Given the description of an element on the screen output the (x, y) to click on. 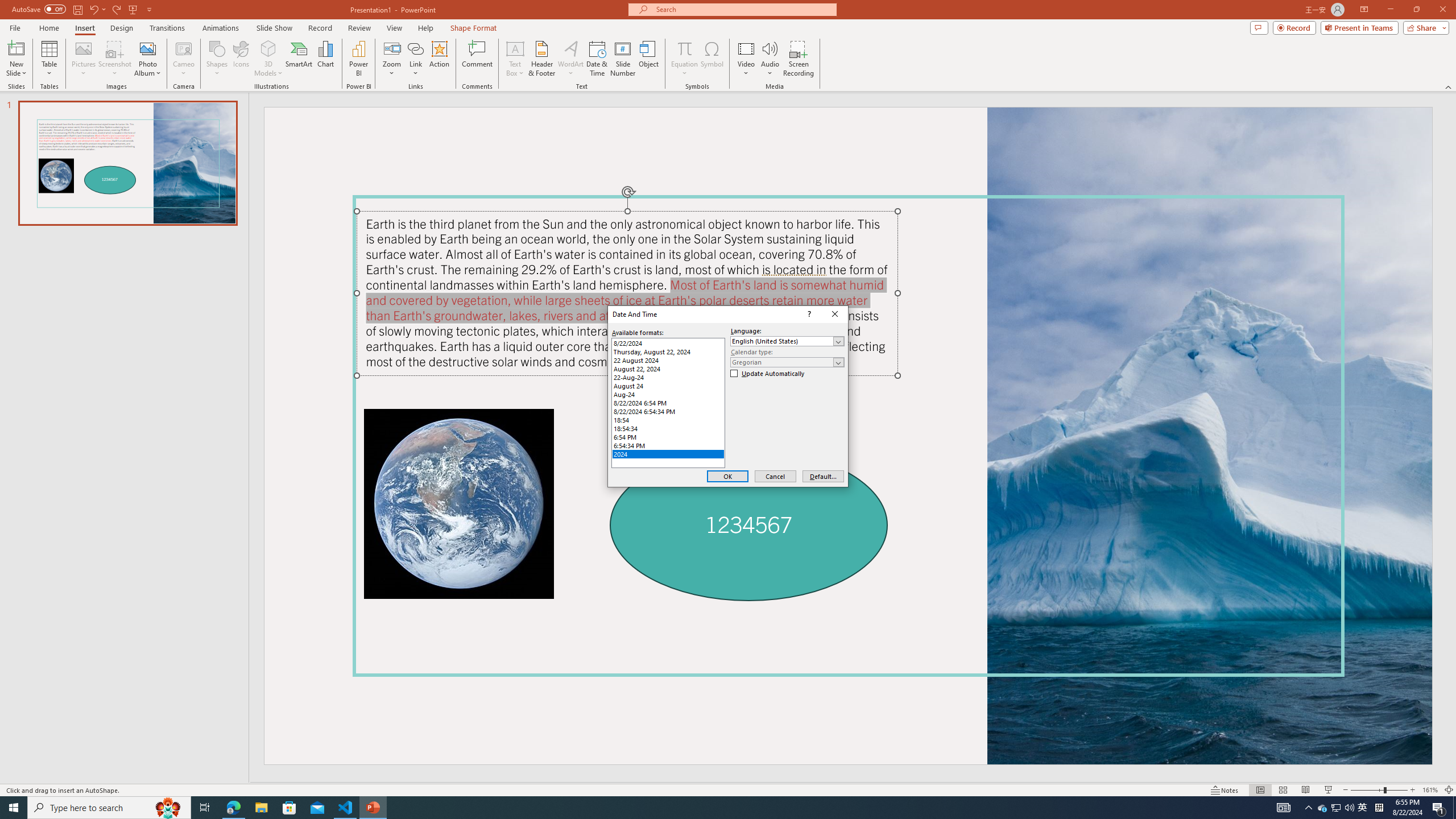
Cancel (775, 476)
Restore Down (1416, 9)
Design (122, 28)
Notification Chevron (1308, 807)
August 24 (667, 385)
